Given the description of an element on the screen output the (x, y) to click on. 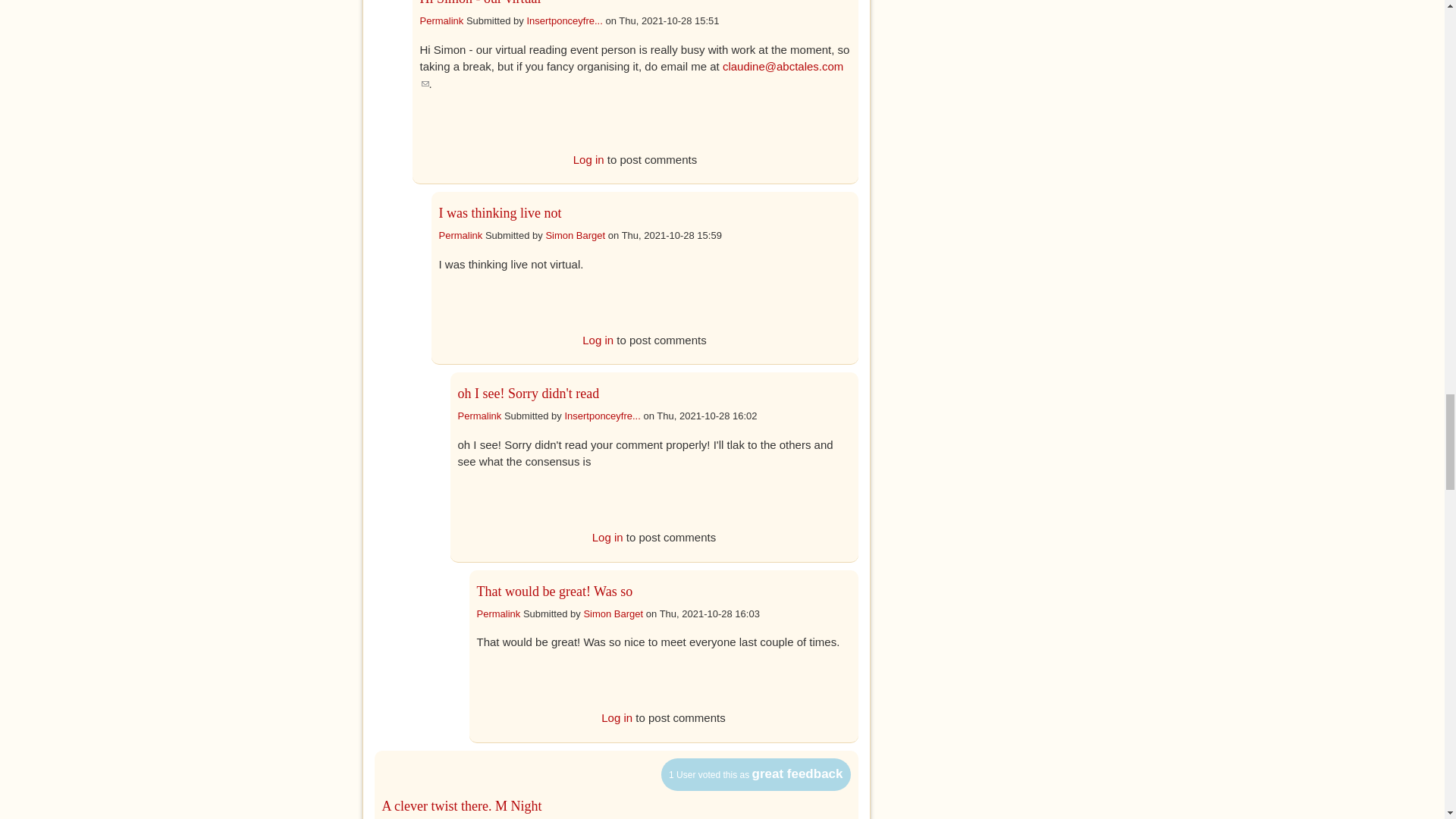
Hi Simon - our virtual (480, 2)
Simon Barget (574, 235)
Log in (597, 339)
Permalink (480, 415)
View user profile. (602, 415)
View user profile. (613, 613)
Insertponceyfre... (602, 415)
Insertponceyfre... (563, 20)
Permalink (442, 20)
oh I see! Sorry didn't read (528, 393)
View user profile. (574, 235)
Log in (588, 159)
View user profile. (563, 20)
I was thinking live not (499, 212)
Permalink (459, 235)
